Given the description of an element on the screen output the (x, y) to click on. 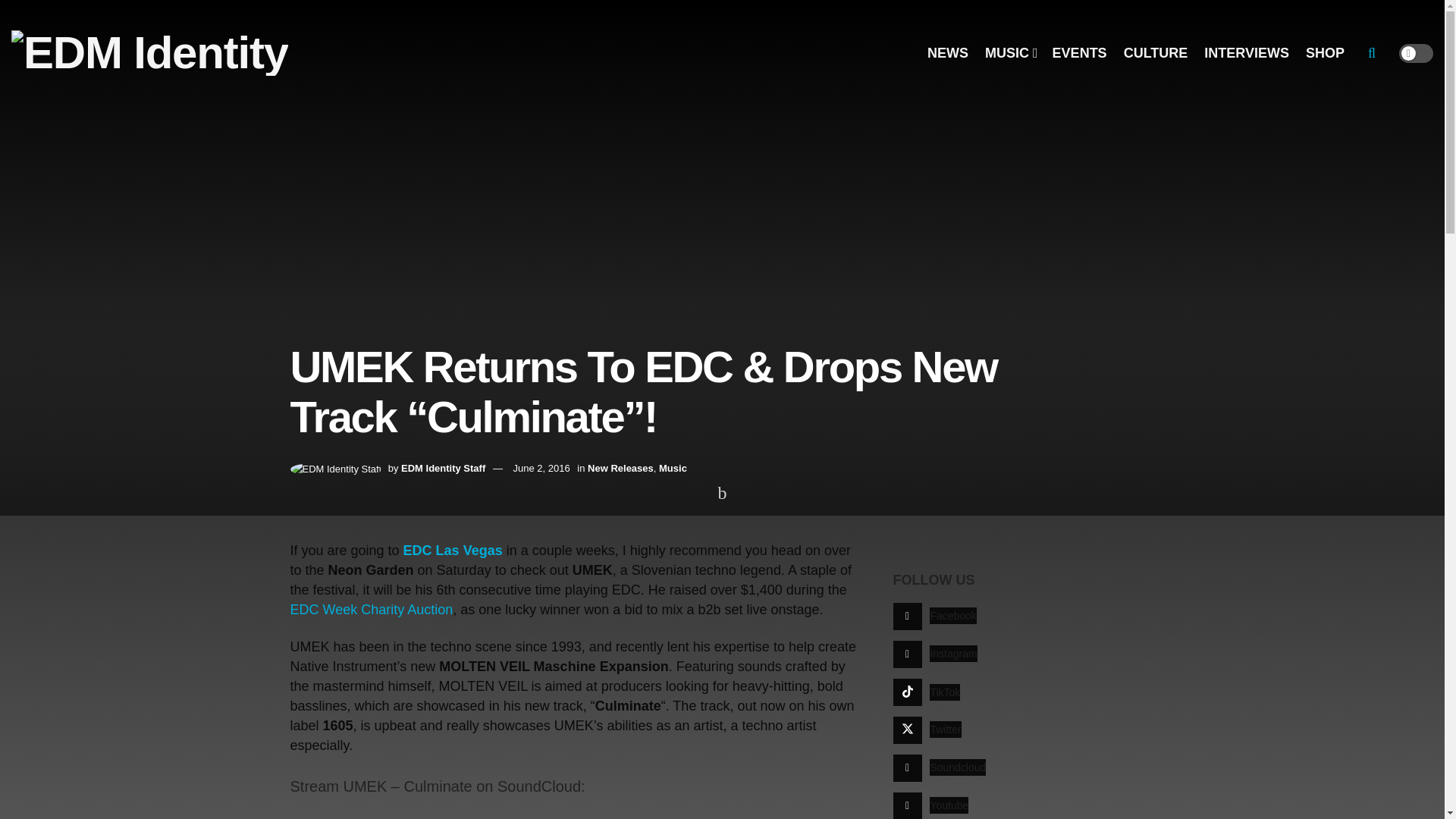
EDC Week Charity Auction (370, 609)
NEWS (947, 53)
EDM Identity Staff (442, 468)
SHOP (1324, 53)
INTERVIEWS (1246, 53)
June 2, 2016 (540, 468)
EVENTS (1079, 53)
EDC Las Vegas (452, 549)
Music (673, 468)
CULTURE (1156, 53)
UMEK - Culminate by UMEK (478, 812)
New Releases (620, 468)
MUSIC (1010, 53)
